Given the description of an element on the screen output the (x, y) to click on. 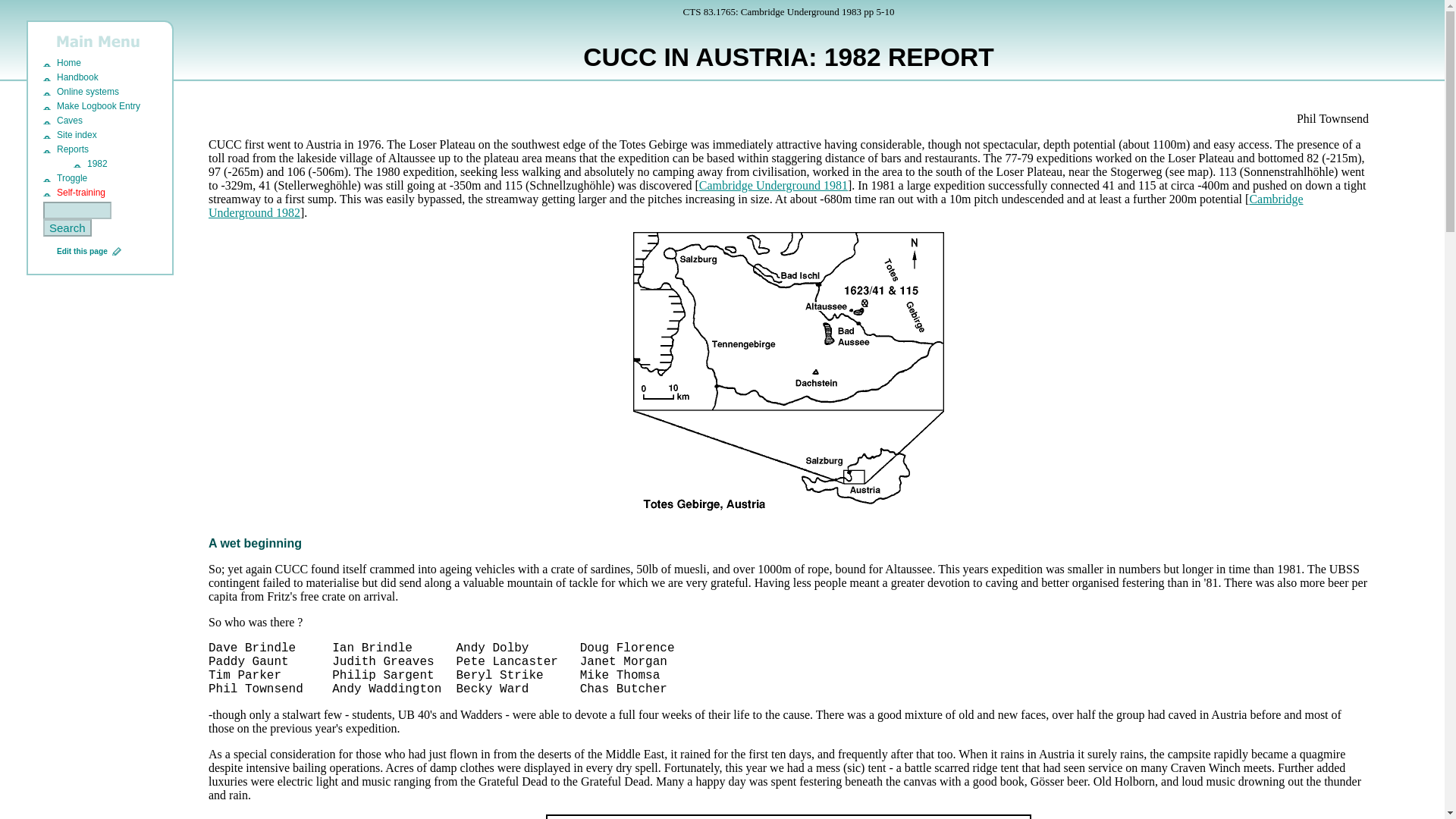
Handbook (71, 77)
Home (62, 62)
1982 (90, 163)
Cambridge Underground 1982 (755, 205)
Cambridge Underground 1981 (772, 185)
Reports (65, 149)
Site index (70, 134)
Online systems (81, 91)
Edit this page (81, 251)
Self-training (73, 192)
Troggle (65, 177)
Make Logbook Entry (91, 105)
Search (67, 227)
Search (67, 227)
Caves (62, 120)
